Given the description of an element on the screen output the (x, y) to click on. 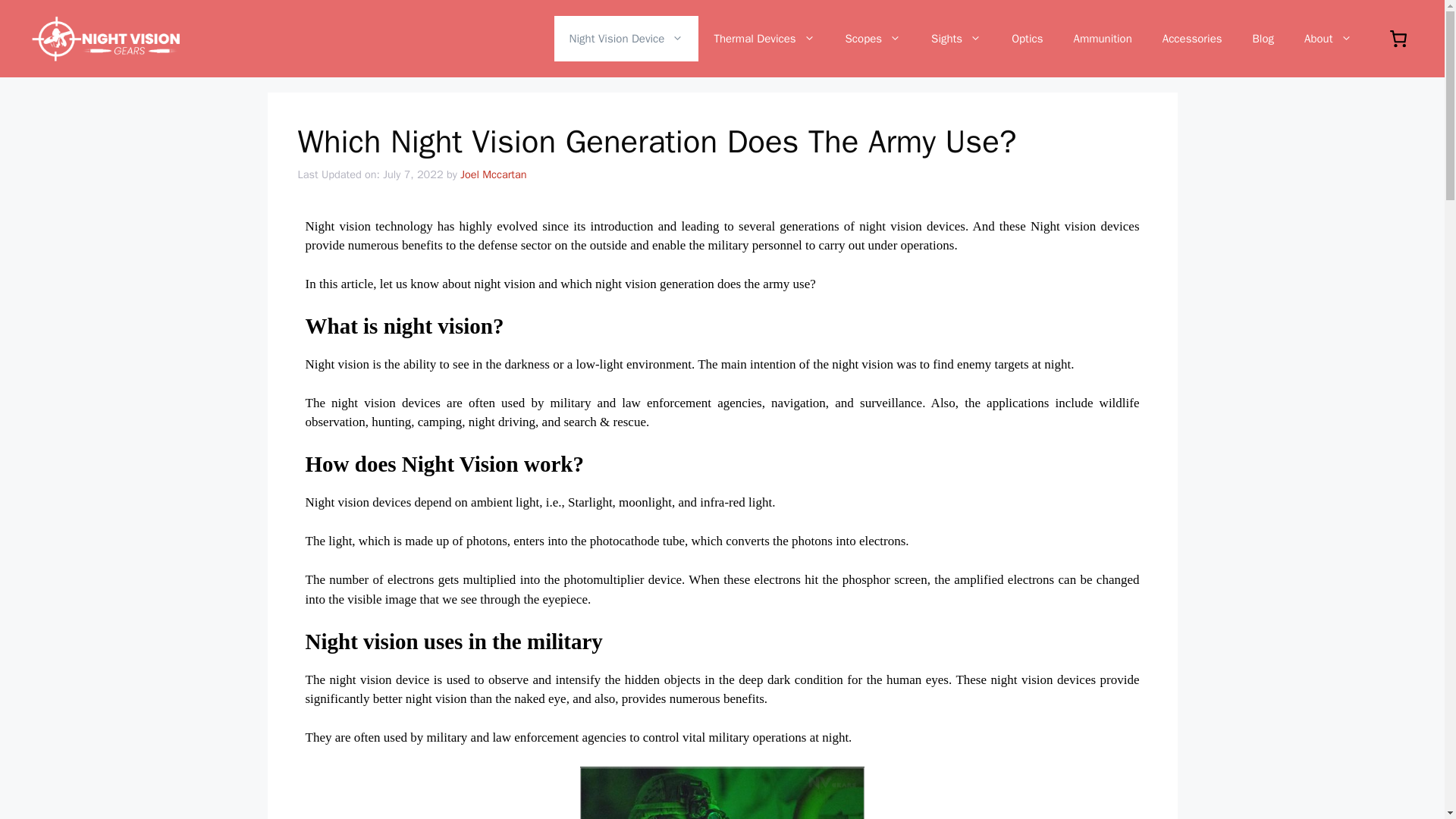
Joel Mccartan (492, 173)
Scopes (873, 38)
Blog (1262, 38)
Sights (955, 38)
Thermal Devices (763, 38)
About (1327, 38)
Ammunition (1102, 38)
Accessories (1192, 38)
Optics (1026, 38)
View all posts by Joel Mccartan (492, 173)
